Given the description of an element on the screen output the (x, y) to click on. 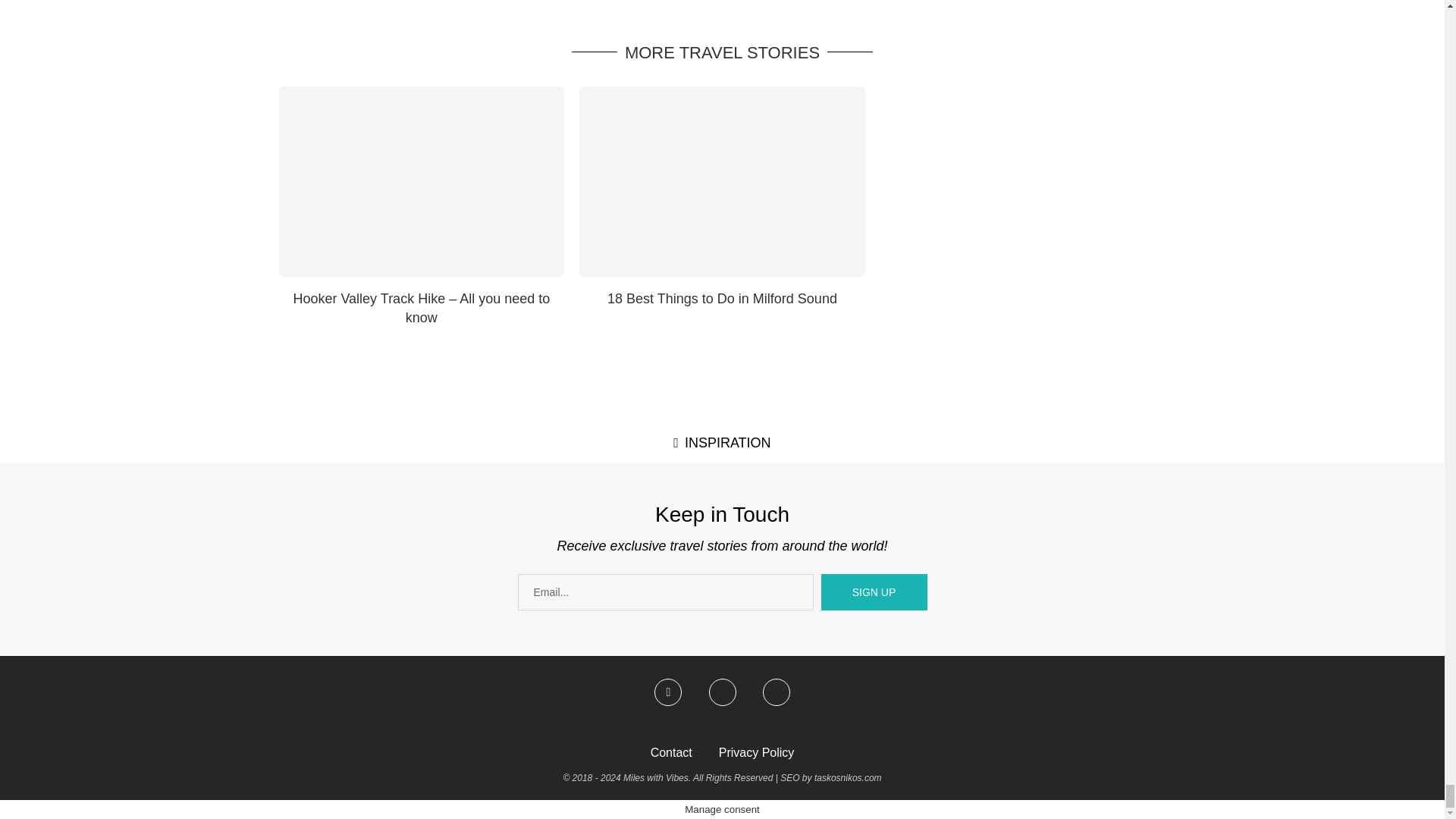
Sign Up (873, 592)
18 Best Things to Do in Milford Sound (721, 181)
